Given the description of an element on the screen output the (x, y) to click on. 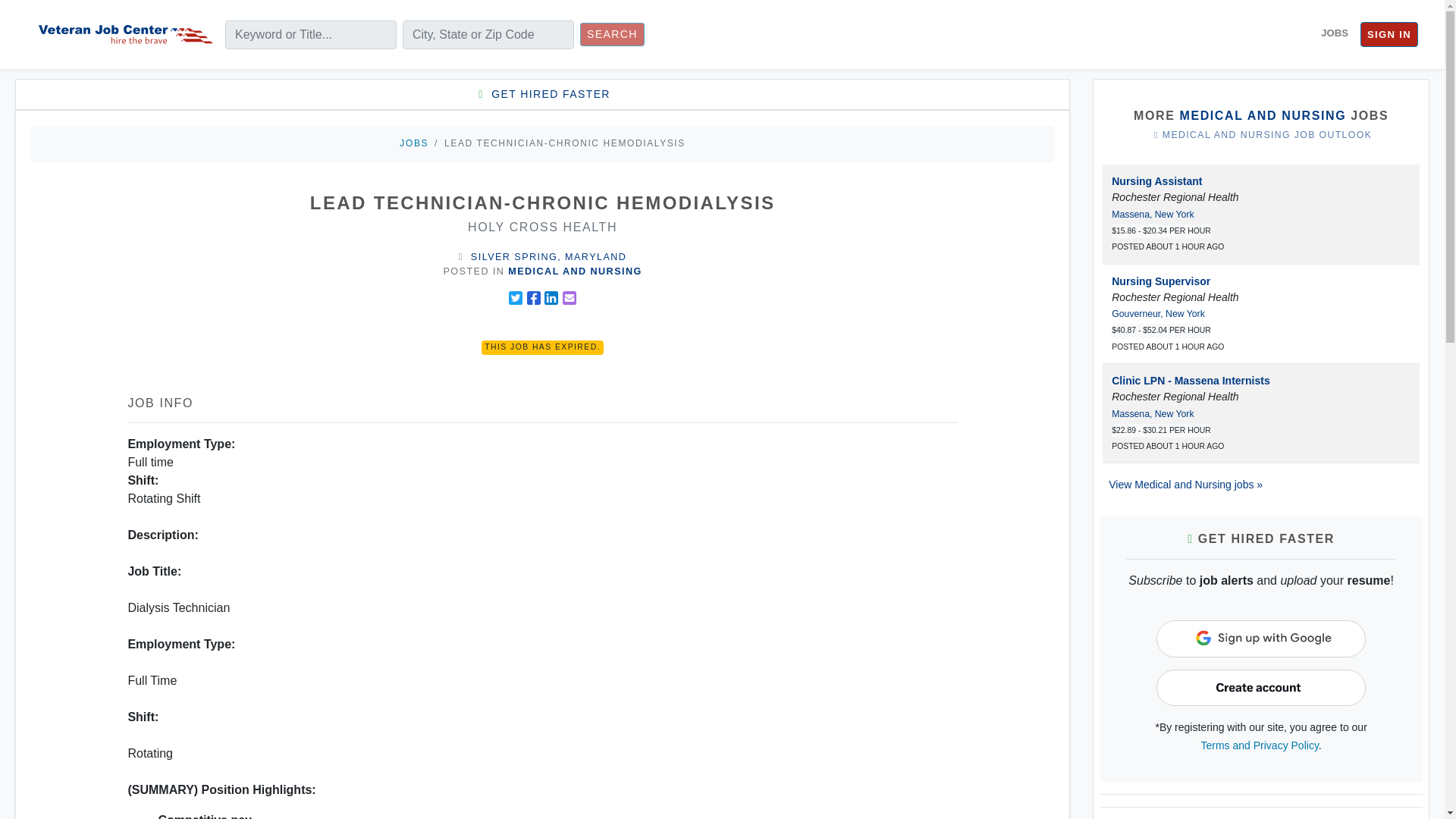
Share to Twitter (515, 297)
Terms and Privacy Policy (1260, 745)
Share to Linkedin (550, 297)
Massena, New York (1152, 413)
Gouverneur, New York (1158, 313)
SEARCH (612, 33)
JOBS (413, 143)
SIGN IN (1388, 34)
GET HIRED FASTER (541, 94)
MEDICAL AND NURSING (1262, 115)
